Given the description of an element on the screen output the (x, y) to click on. 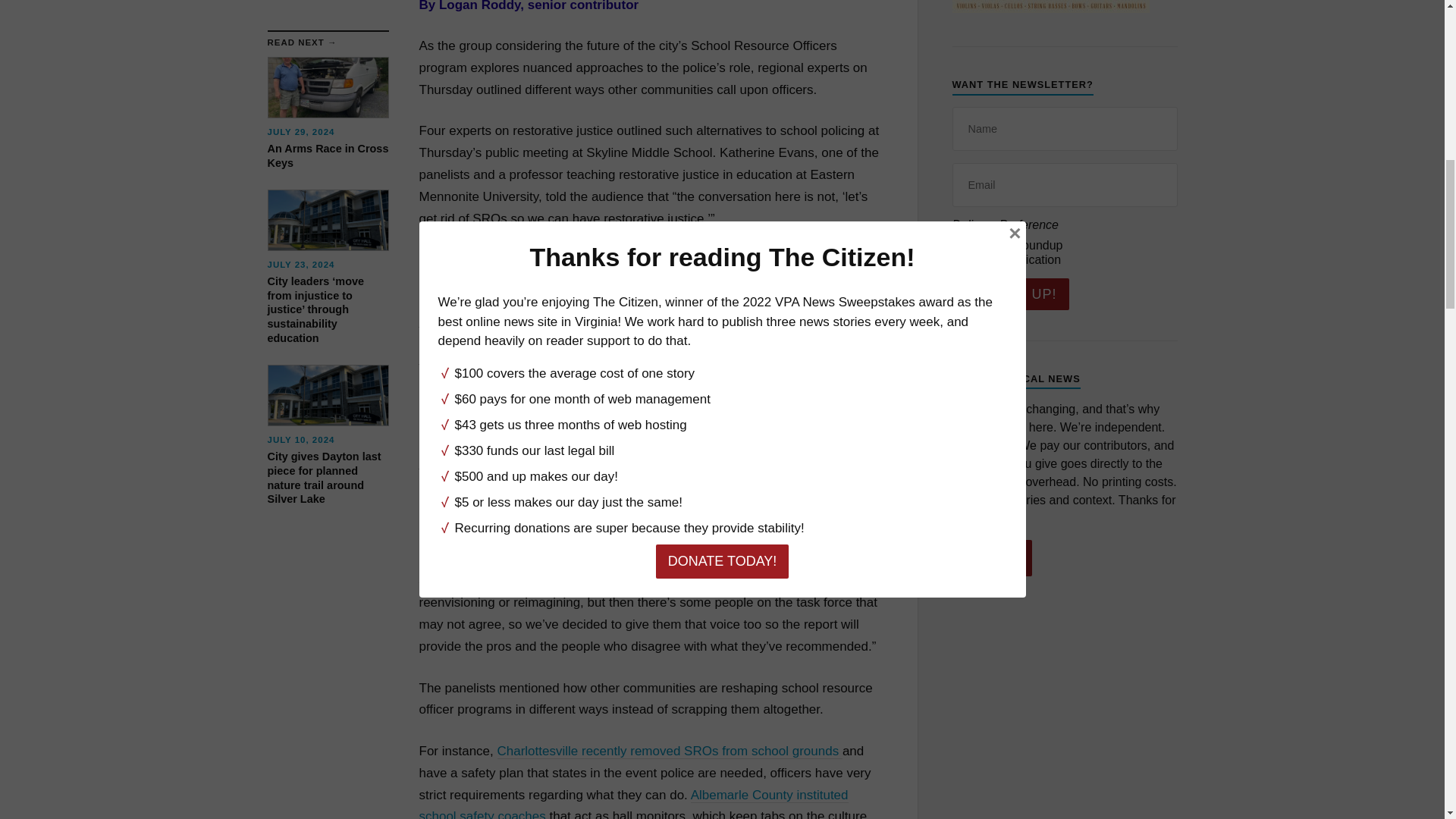
Sign me up! (1010, 294)
Charlottesville recently removed SROs from school grounds (670, 751)
Albemarle County instituted school safety coaches (633, 803)
3fe0729a7e (960, 258)
86d305d8aa (960, 244)
